Given the description of an element on the screen output the (x, y) to click on. 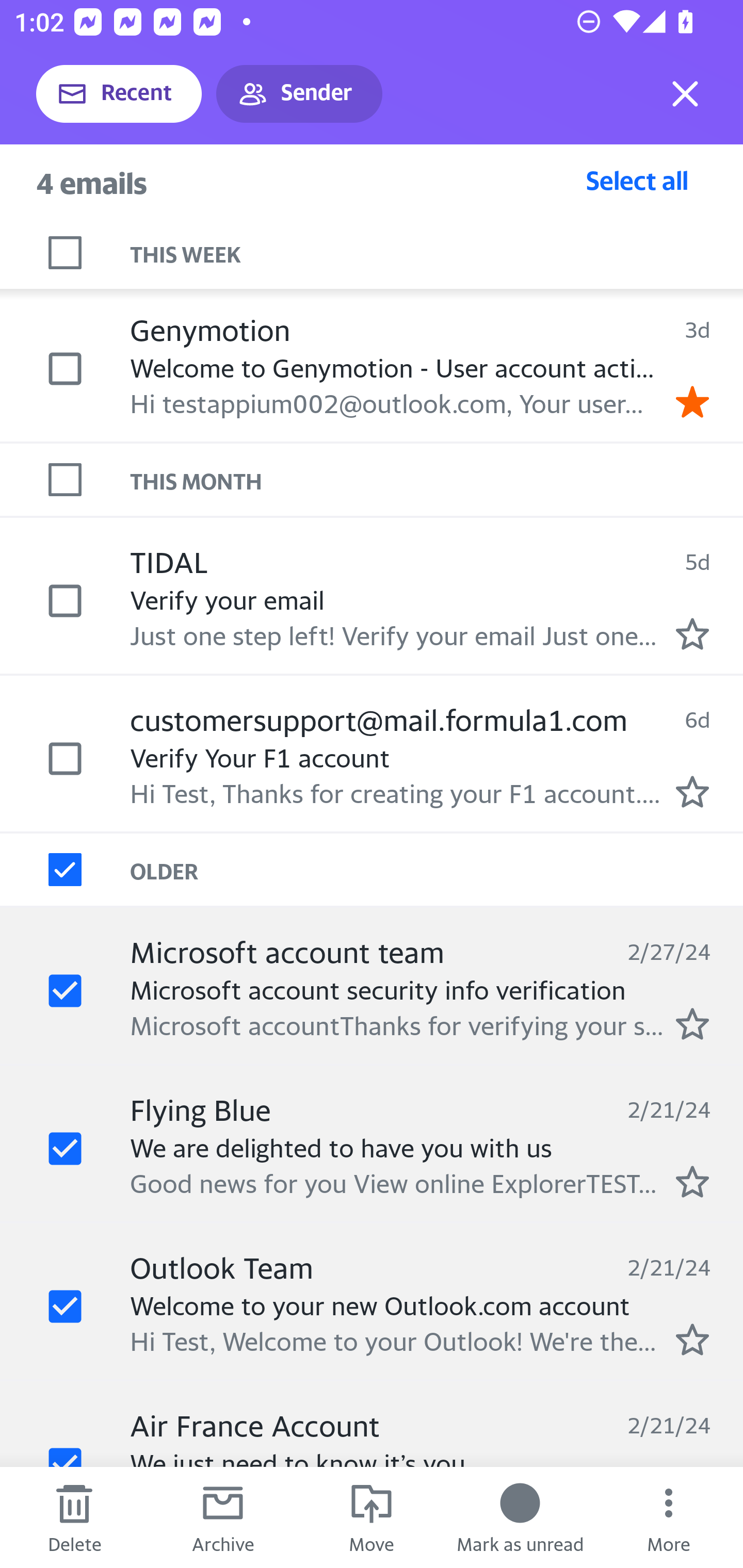
Sender (299, 93)
Exit selection mode (684, 93)
Select all (637, 180)
Remove star. (692, 402)
THIS MONTH (436, 478)
Mark as starred. (692, 634)
Mark as starred. (692, 791)
OLDER (436, 869)
Mark as starred. (692, 1023)
Mark as starred. (692, 1181)
Mark as starred. (692, 1339)
Delete (74, 1517)
Archive (222, 1517)
Move (371, 1517)
Mark as unread (519, 1517)
More (668, 1517)
